Given the description of an element on the screen output the (x, y) to click on. 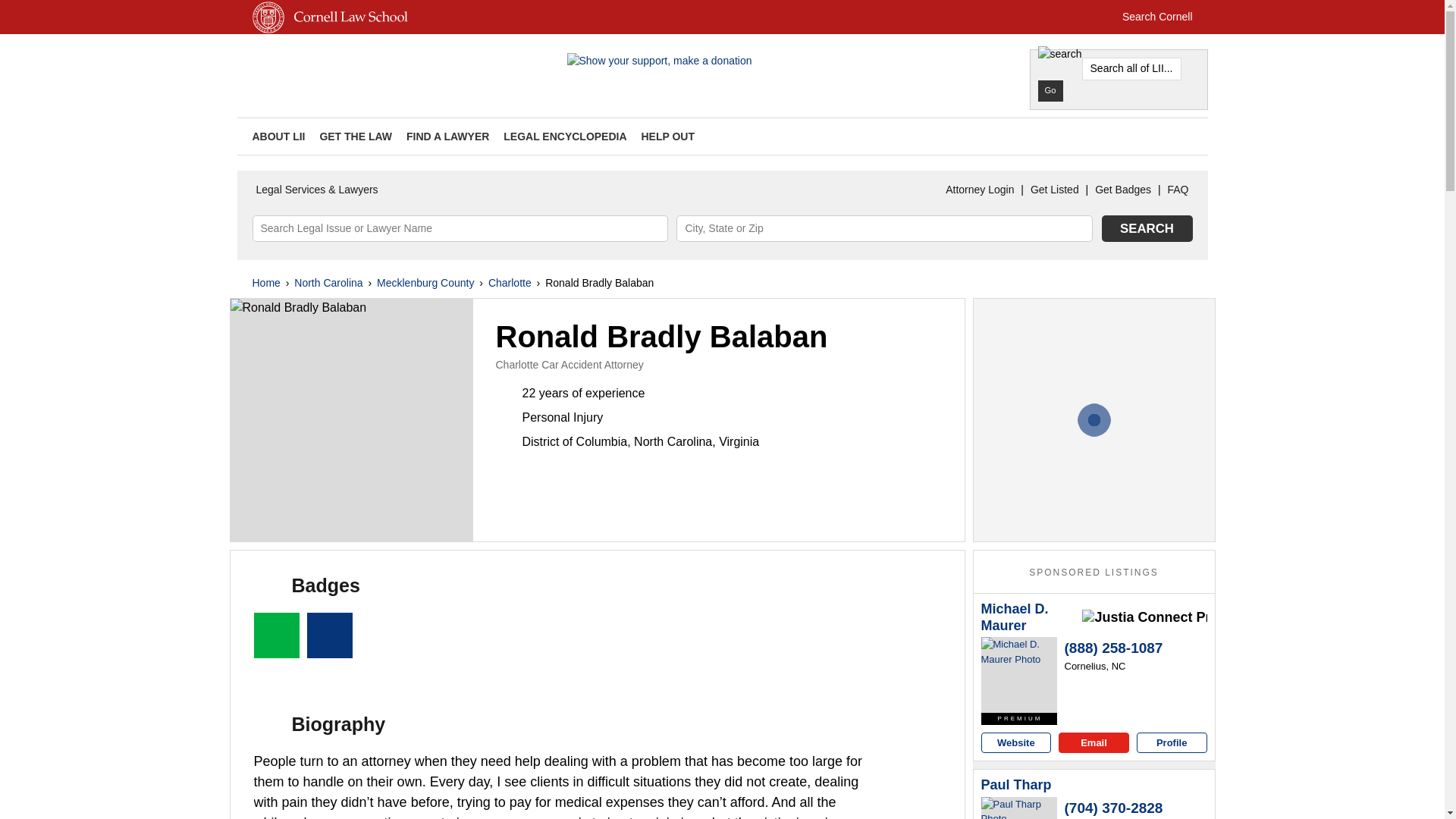
Michael D. Maurer (1029, 617)
Cornell University (267, 29)
FAQ (1177, 189)
Paul Tharp (1019, 807)
North Carolina (328, 282)
Attorney Login (979, 189)
Get Badges (1122, 189)
Michael D. Maurer (1029, 617)
Go (1049, 90)
Search Legal Issue or Lawyer Name (459, 228)
Cornell - LII Attorney Directory (402, 67)
SEARCH (1146, 228)
Search all of LII... (1130, 68)
Ronald Bradly Balaban (351, 419)
Cornell Law School (346, 29)
